Given the description of an element on the screen output the (x, y) to click on. 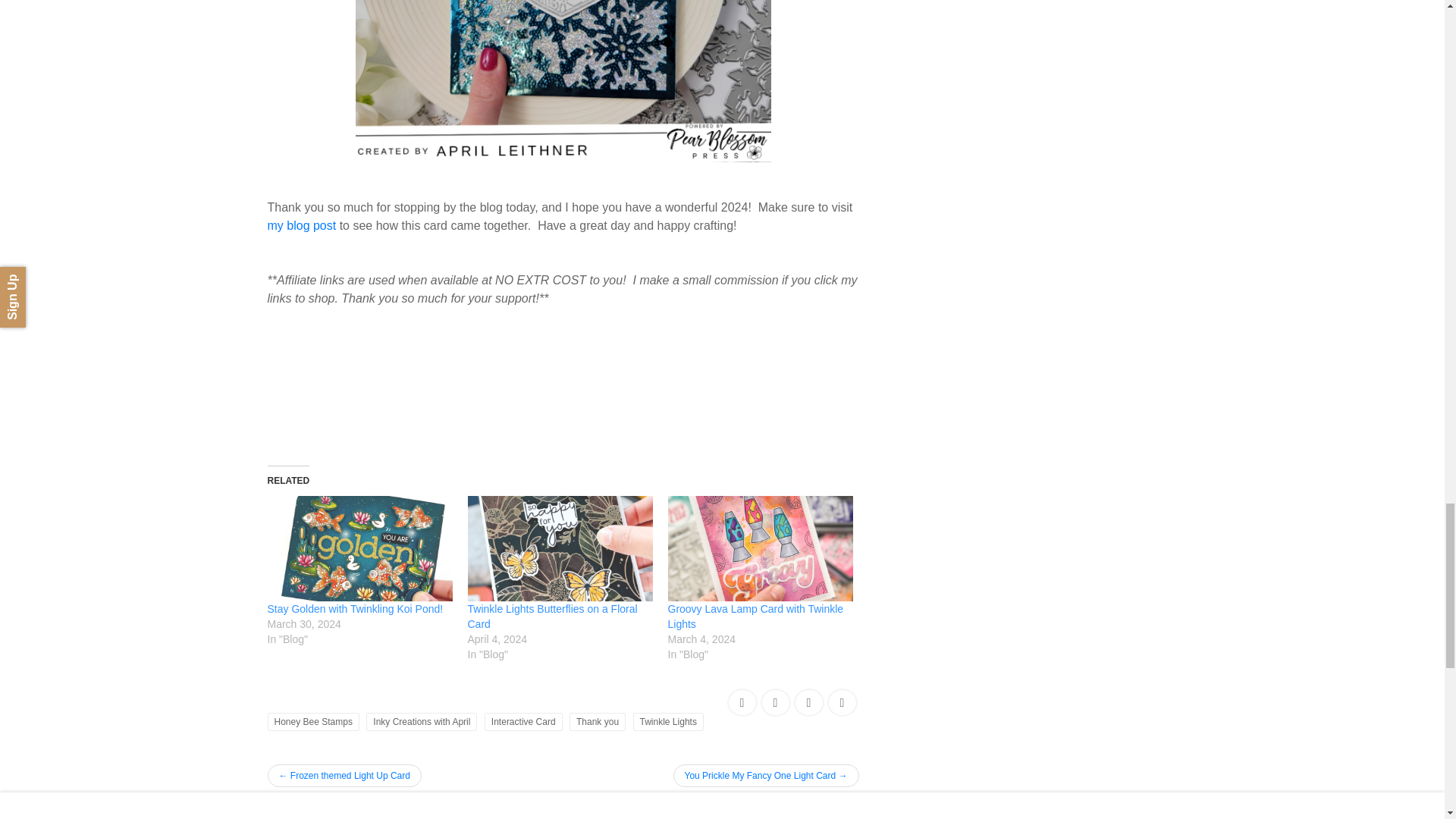
Groovy Lava Lamp Card with Twinkle Lights (754, 615)
Twinkle Lights Butterflies on a Floral Card (552, 615)
Groovy Lava Lamp Card with Twinkle Lights (758, 548)
Twinkle Lights Butterflies on a Floral Card (559, 548)
Stay Golden with Twinkling Koi Pond! (358, 548)
Stay Golden with Twinkling Koi Pond! (354, 608)
